Given the description of an element on the screen output the (x, y) to click on. 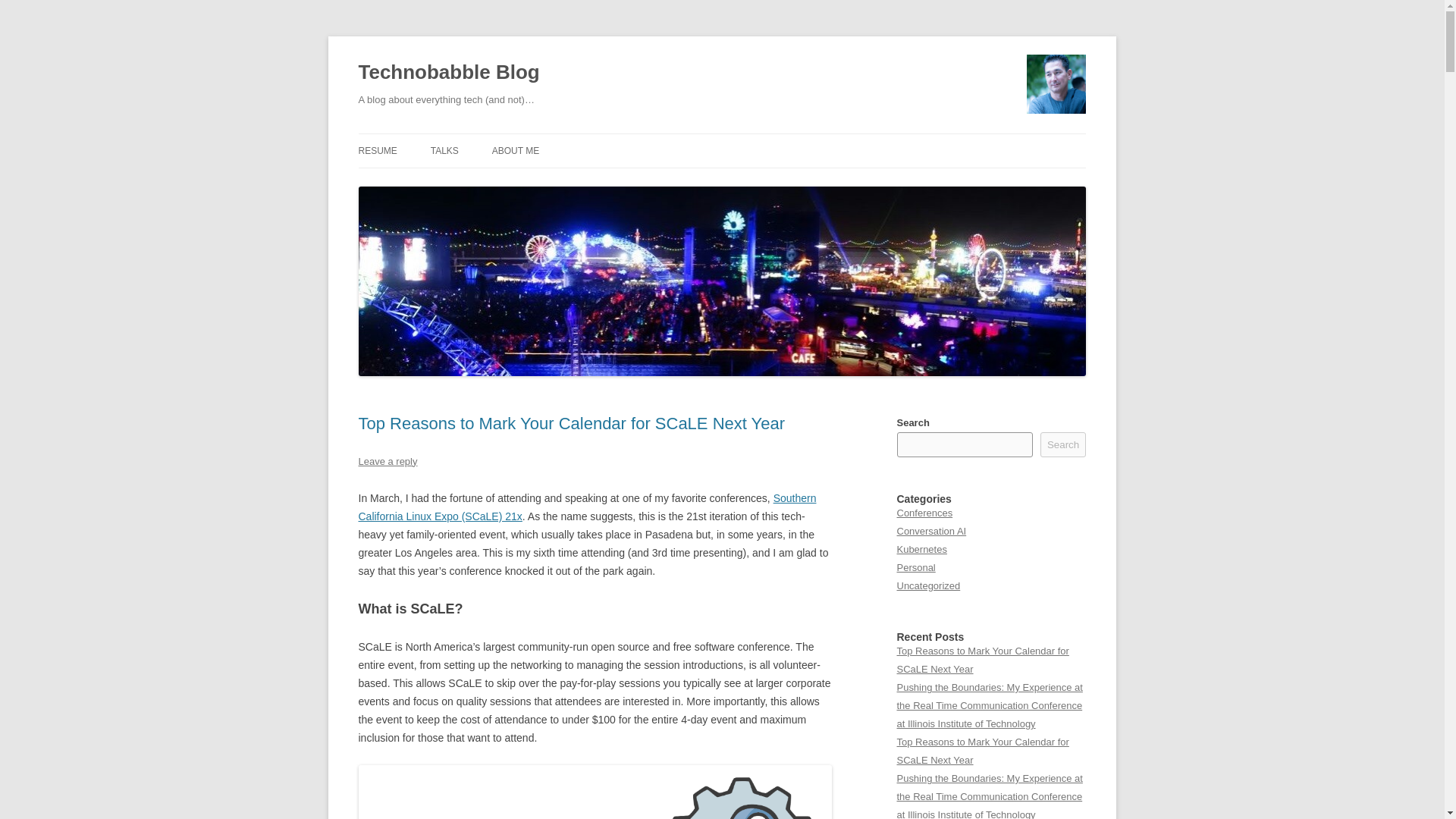
RESUME (377, 150)
Leave a reply (387, 460)
Technobabble Blog (448, 72)
Top Reasons to Mark Your Calendar for SCaLE Next Year (571, 423)
ABOUT ME (515, 150)
